Given the description of an element on the screen output the (x, y) to click on. 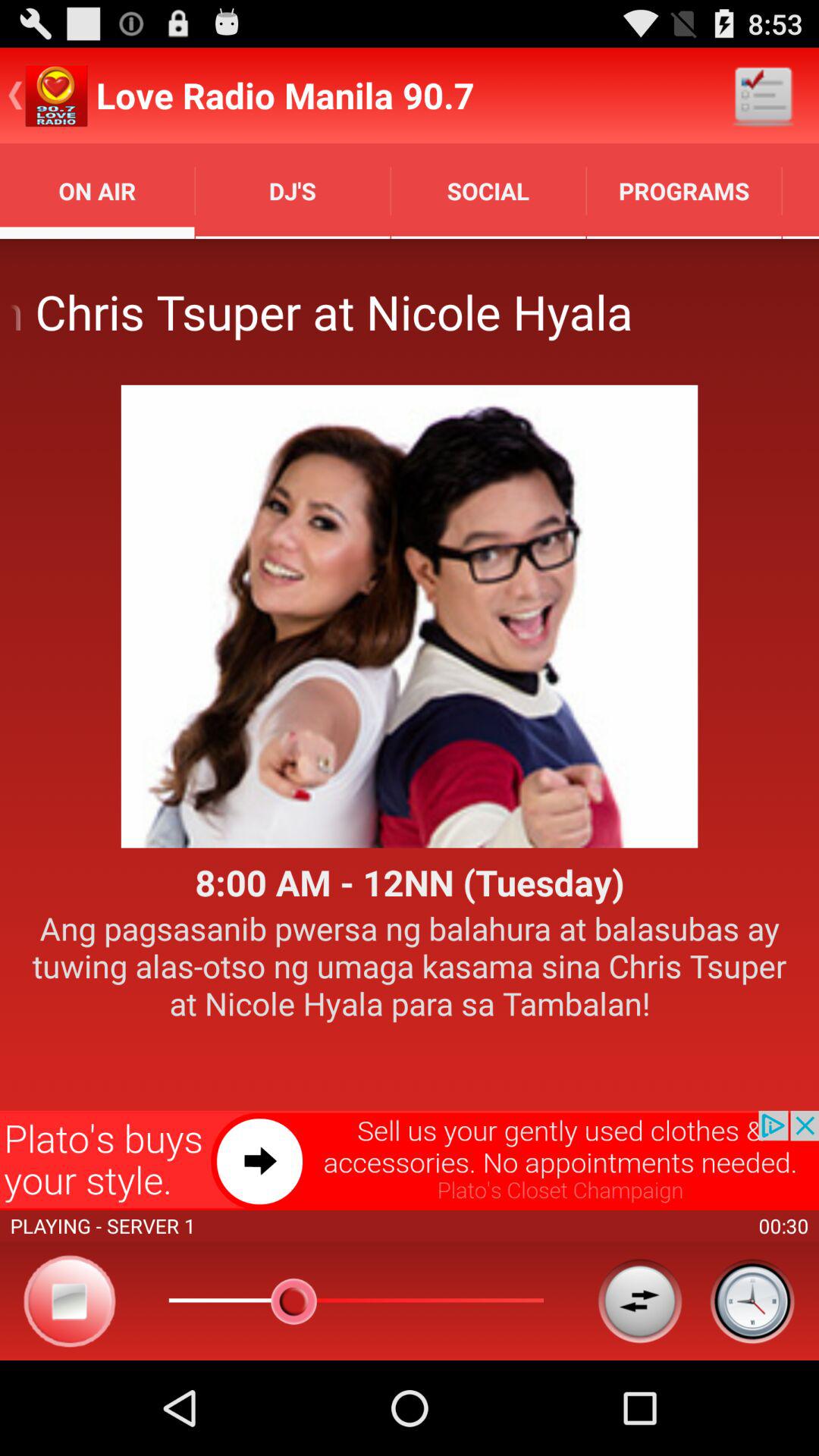
stop audio play (69, 1300)
